Given the description of an element on the screen output the (x, y) to click on. 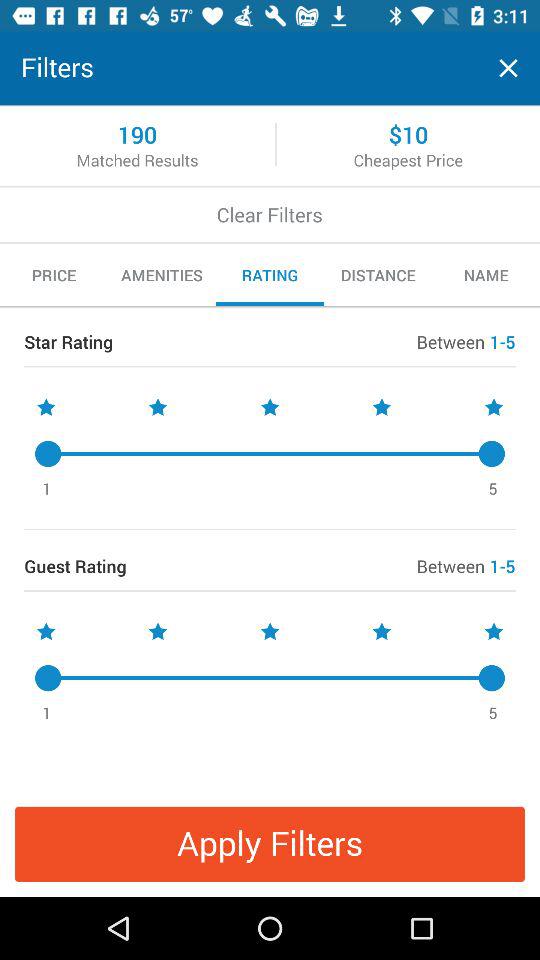
click the icon next to distance item (486, 275)
